Given the description of an element on the screen output the (x, y) to click on. 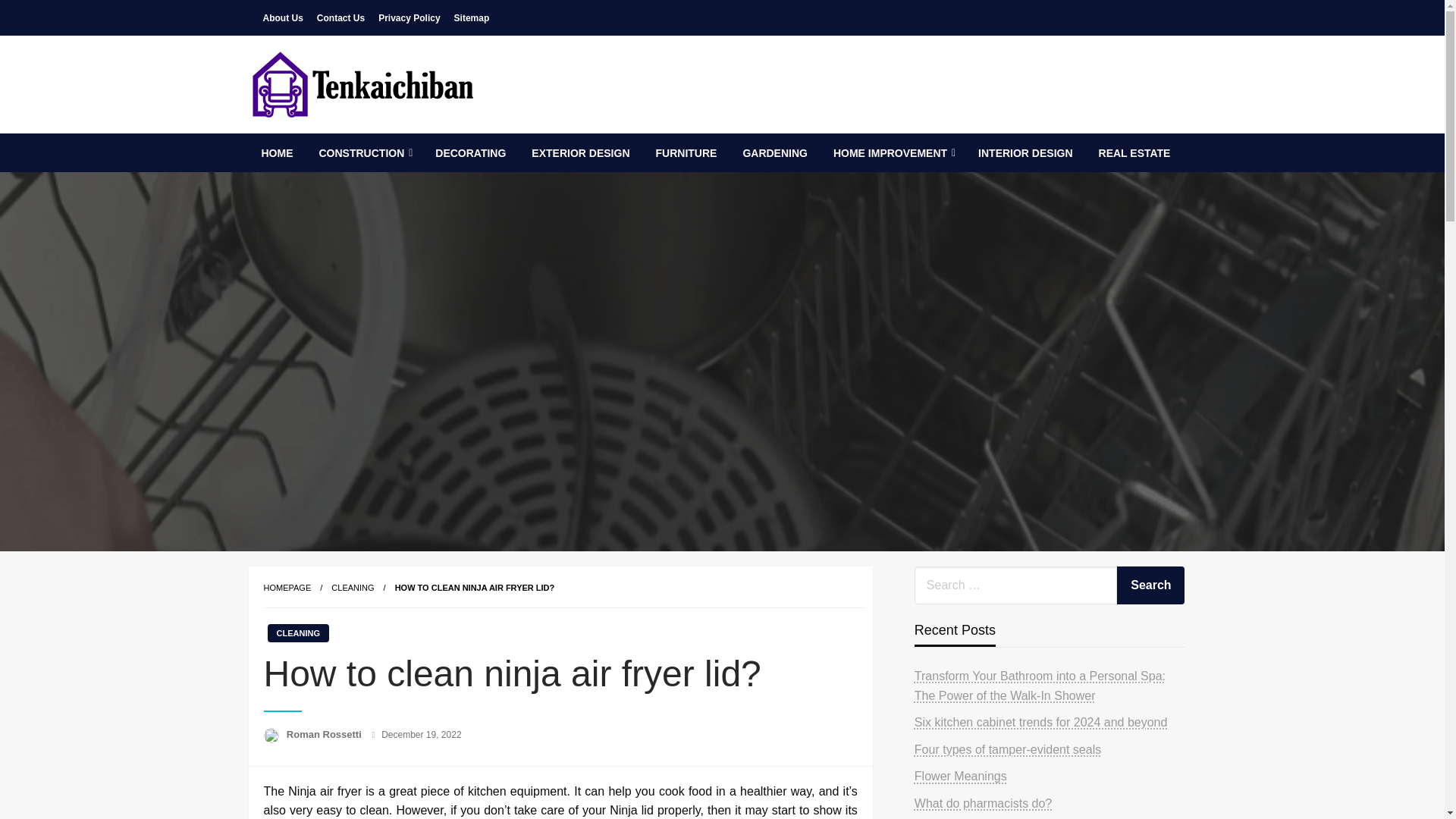
DECORATING (470, 152)
HOME (276, 152)
About Us (283, 17)
INTERIOR DESIGN (1024, 152)
CLEANING (352, 587)
REAL ESTATE (1134, 152)
Sitemap (471, 17)
Search (1150, 585)
Roman Rossetti (325, 734)
Tenkaichiban (337, 145)
